Given the description of an element on the screen output the (x, y) to click on. 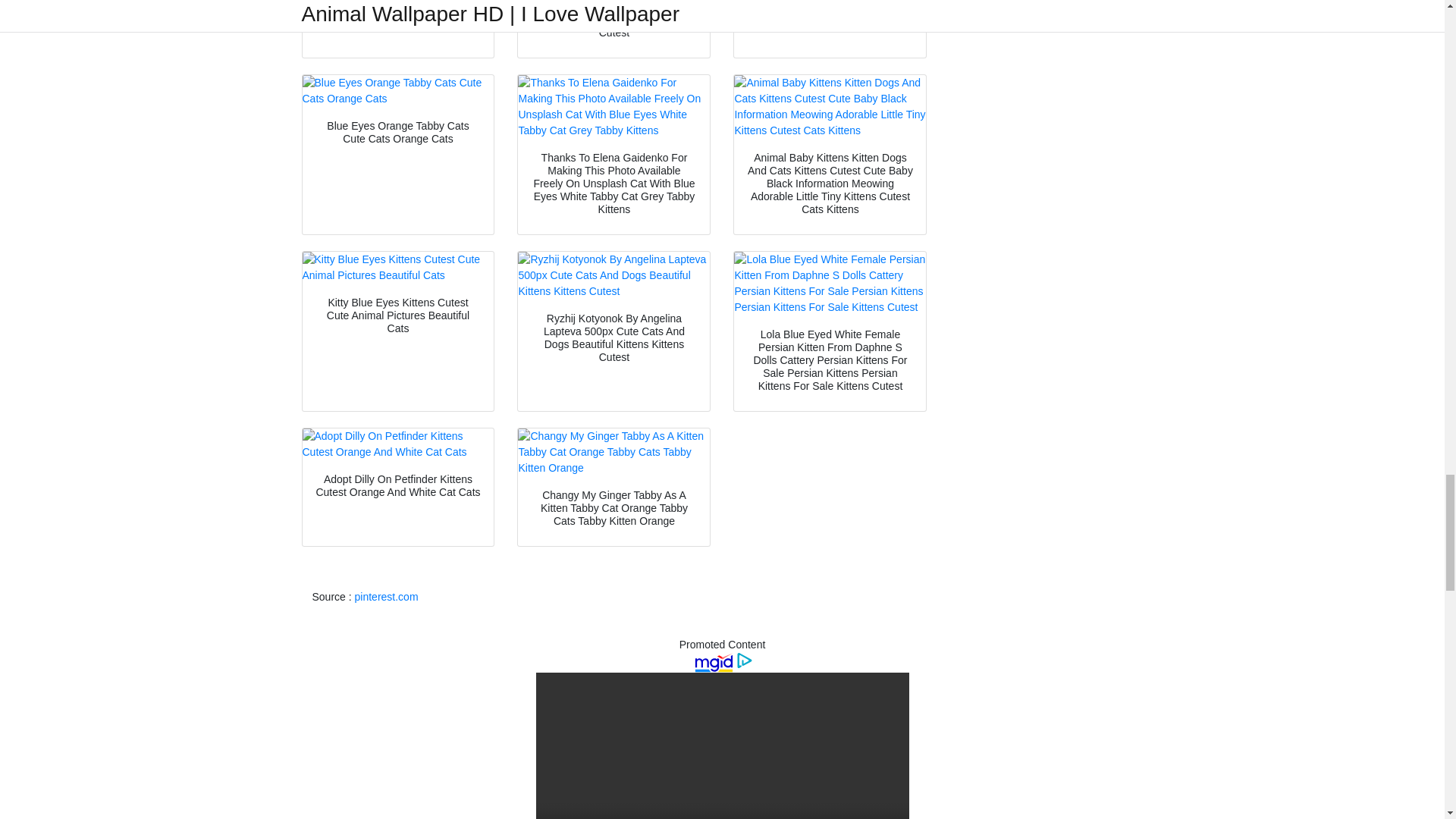
pinterest.com (387, 596)
